Given the description of an element on the screen output the (x, y) to click on. 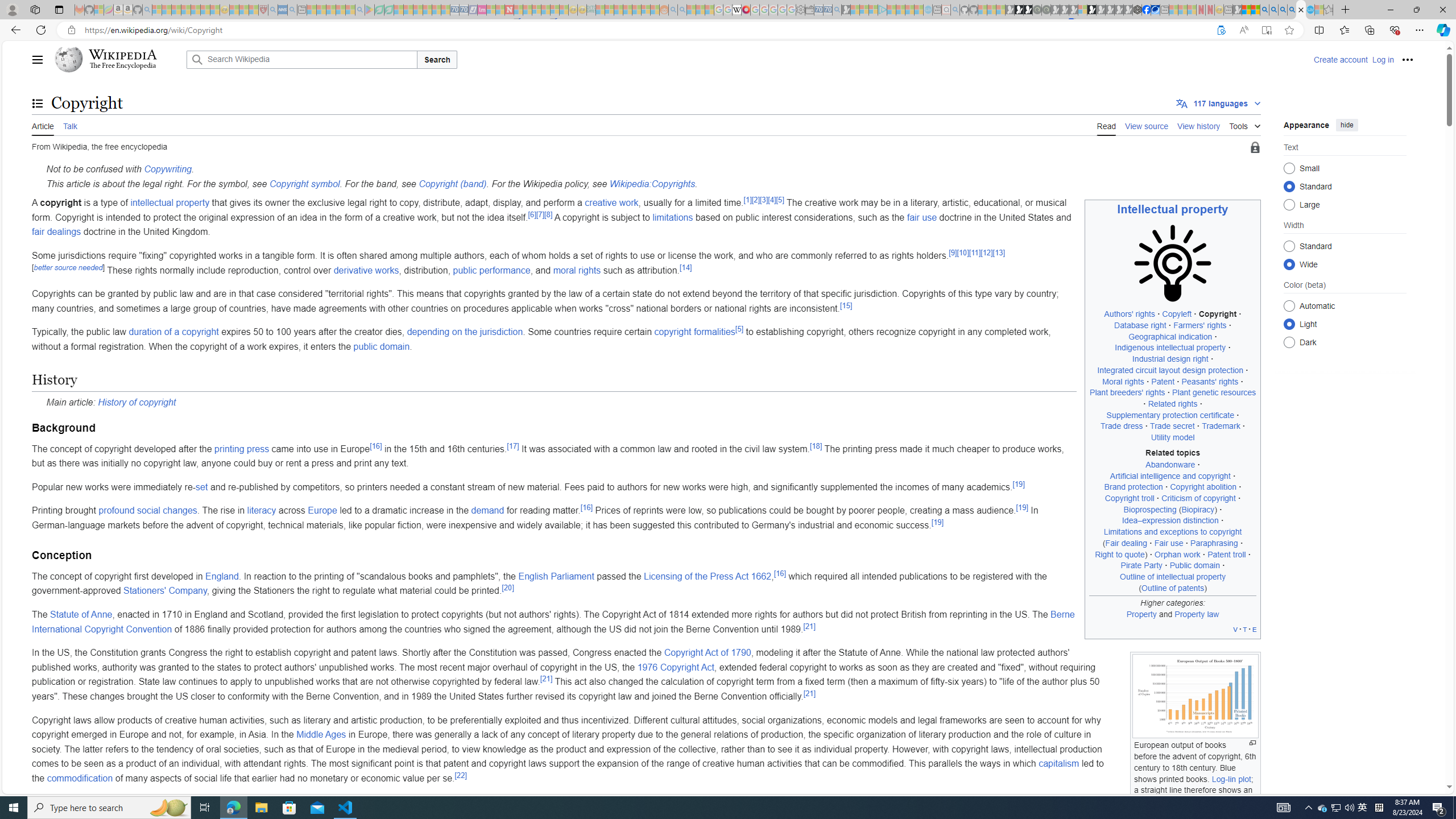
Large (1289, 204)
14 Common Myths Debunked By Scientific Facts - Sleeping (527, 9)
Read (1106, 124)
Trusted Community Engagement and Contributions | Guidelines (518, 9)
e (1254, 628)
Biopiracy (1197, 509)
Plant genetic resources (1214, 392)
Article (42, 124)
Personal Profile (12, 9)
